Given the description of an element on the screen output the (x, y) to click on. 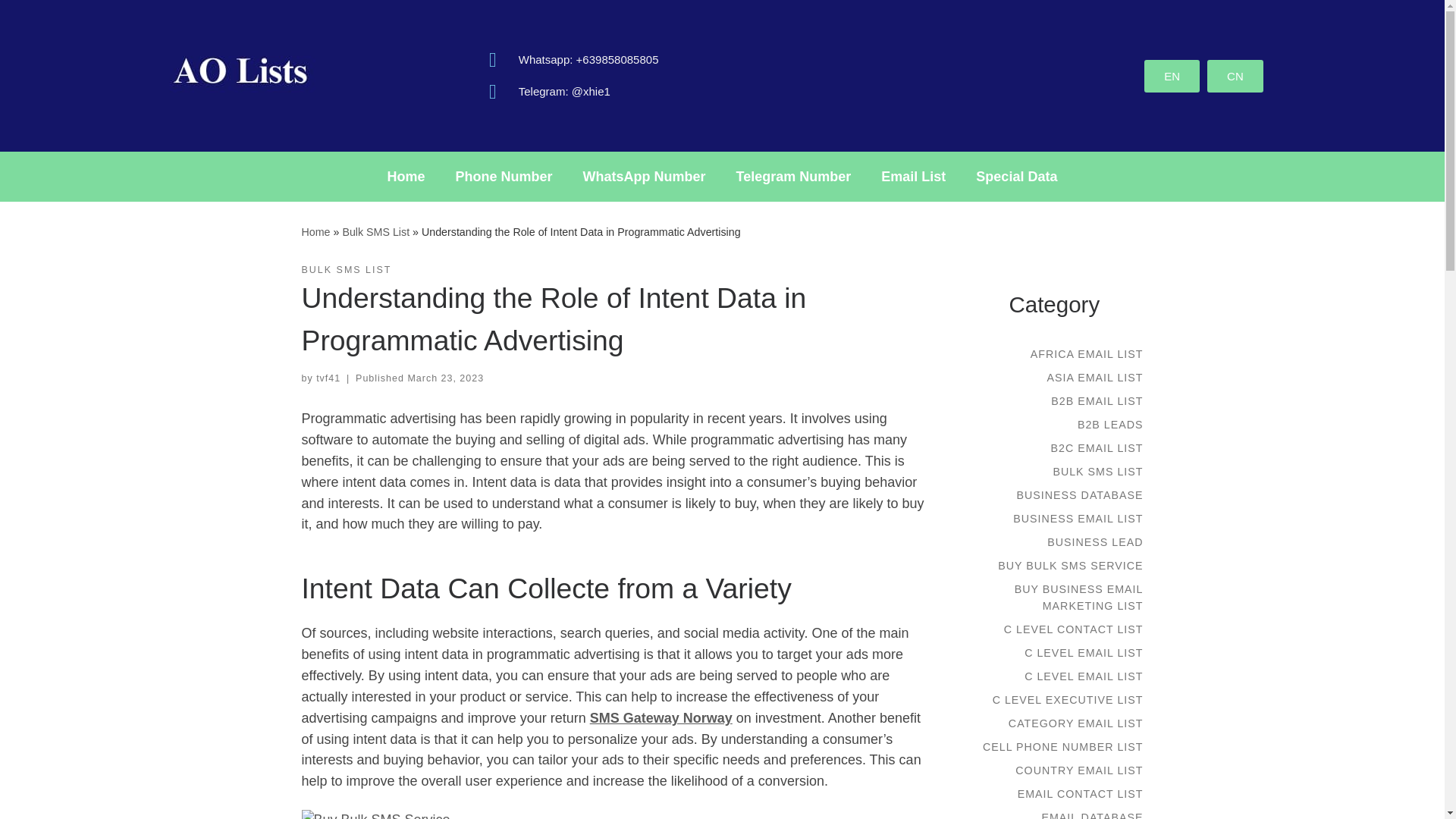
Special Data (1015, 176)
Phone Number (504, 176)
March 23, 2023 (445, 378)
Home (406, 176)
Bulk SMS List (375, 232)
SMS Gateway Norway (660, 717)
Bulk SMS List (375, 232)
Telegram Number (793, 176)
AO Lists (315, 232)
CN (1235, 74)
